Given the description of an element on the screen output the (x, y) to click on. 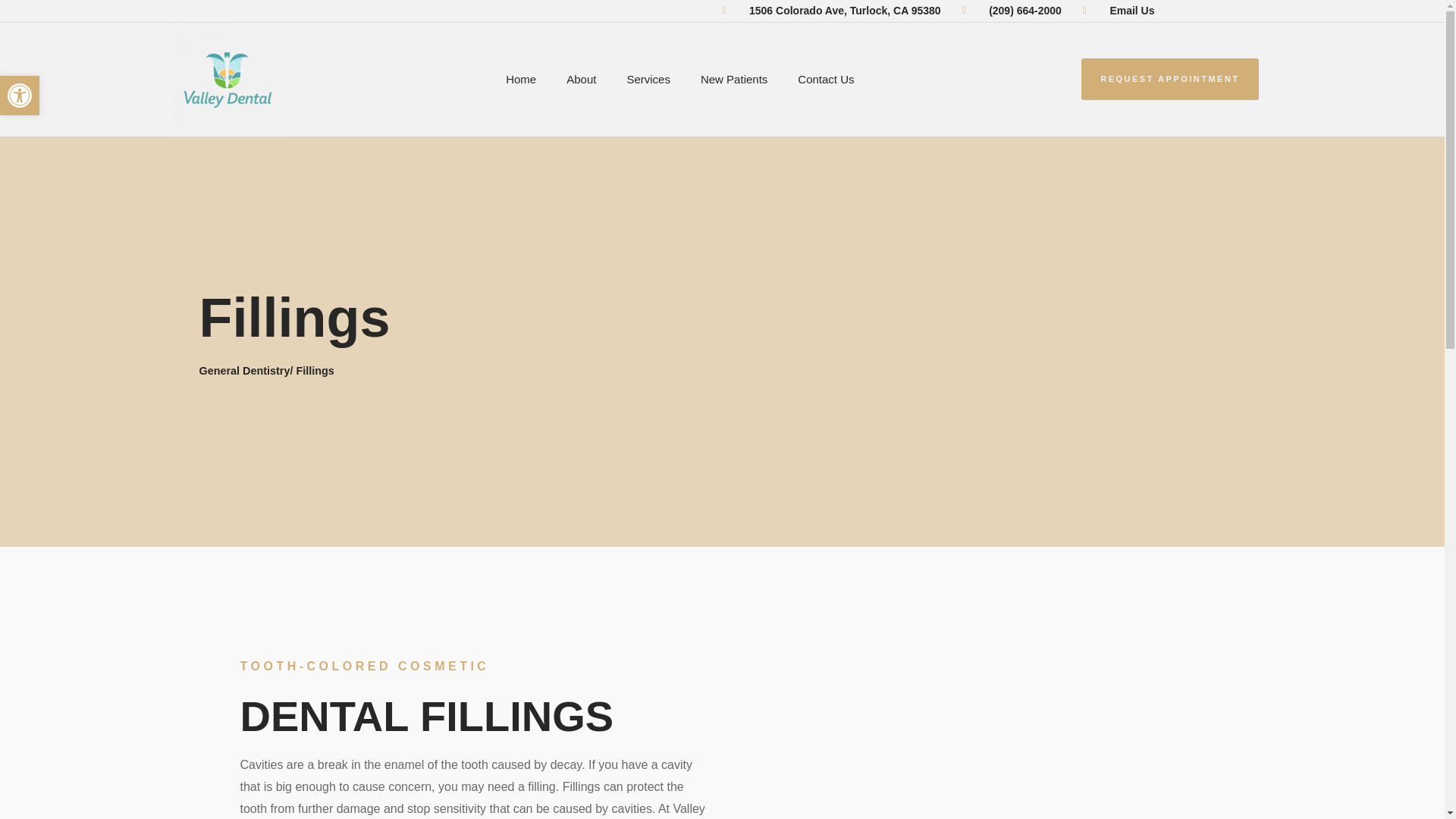
New Patients (734, 79)
1506 Colorado Ave, Turlock, CA 95380 (831, 11)
Email Us (1118, 11)
Accessibility Tools (19, 95)
Accessibility Tools (19, 95)
